Given the description of an element on the screen output the (x, y) to click on. 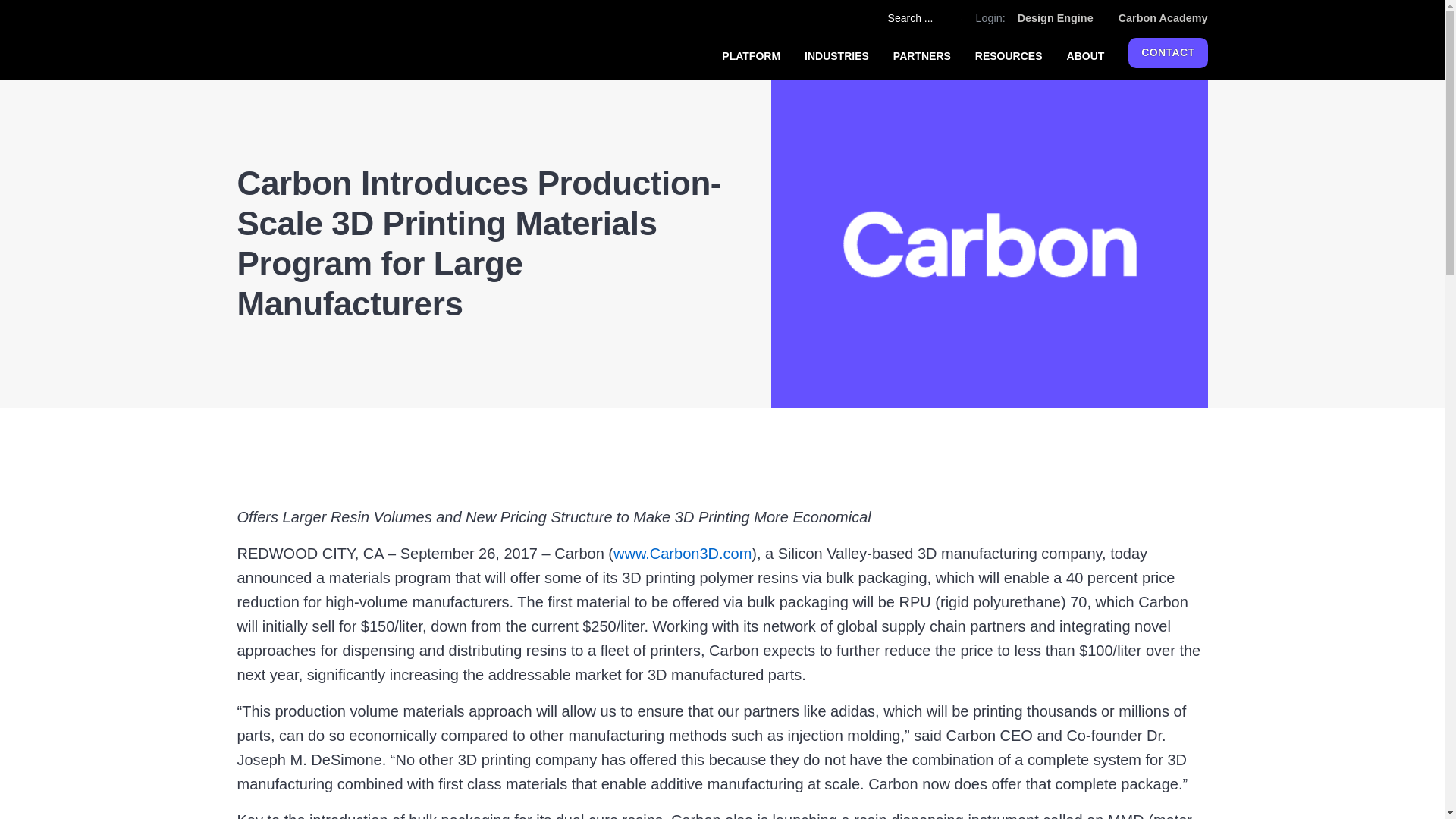
Carbon (274, 39)
PLATFORM (751, 55)
Search (948, 17)
PARTNERS (921, 55)
Search (948, 17)
Carbon Academy (1163, 18)
INDUSTRIES (837, 55)
Design Engine (1055, 18)
Search (948, 17)
